Given the description of an element on the screen output the (x, y) to click on. 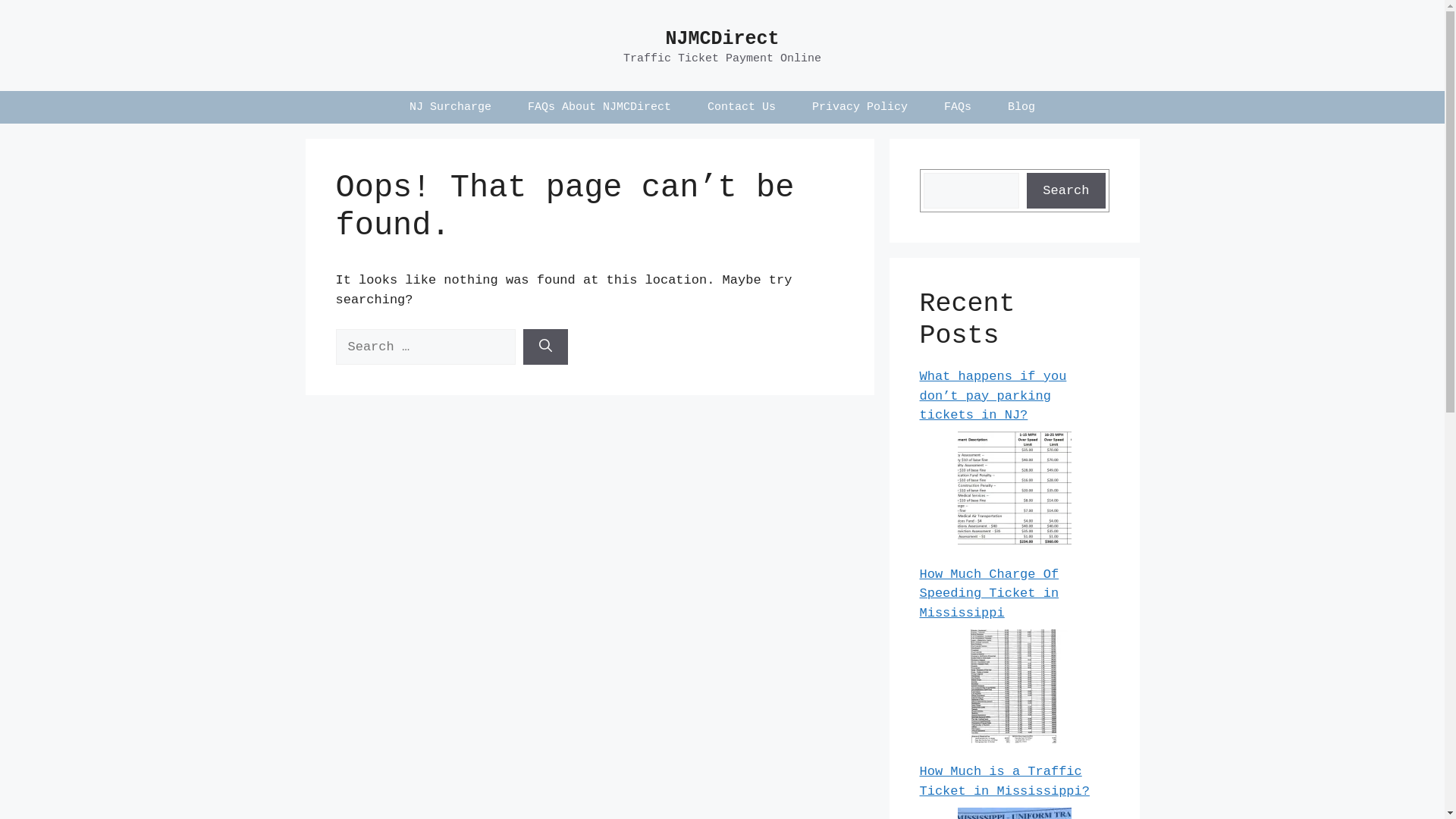
FAQs Element type: text (957, 107)
Blog Element type: text (1021, 107)
Contact Us Element type: text (741, 107)
Search Element type: text (1065, 190)
FAQs About NJMCDirect Element type: text (599, 107)
NJ Surcharge Element type: text (450, 107)
How Much is a Traffic Ticket in Mississippi? Element type: text (1003, 781)
Search for: Element type: hover (424, 347)
Privacy Policy Element type: text (859, 107)
NJMCDirect Element type: text (721, 39)
How Much Charge Of Speeding Ticket in Mississippi Element type: text (988, 593)
